Given the description of an element on the screen output the (x, y) to click on. 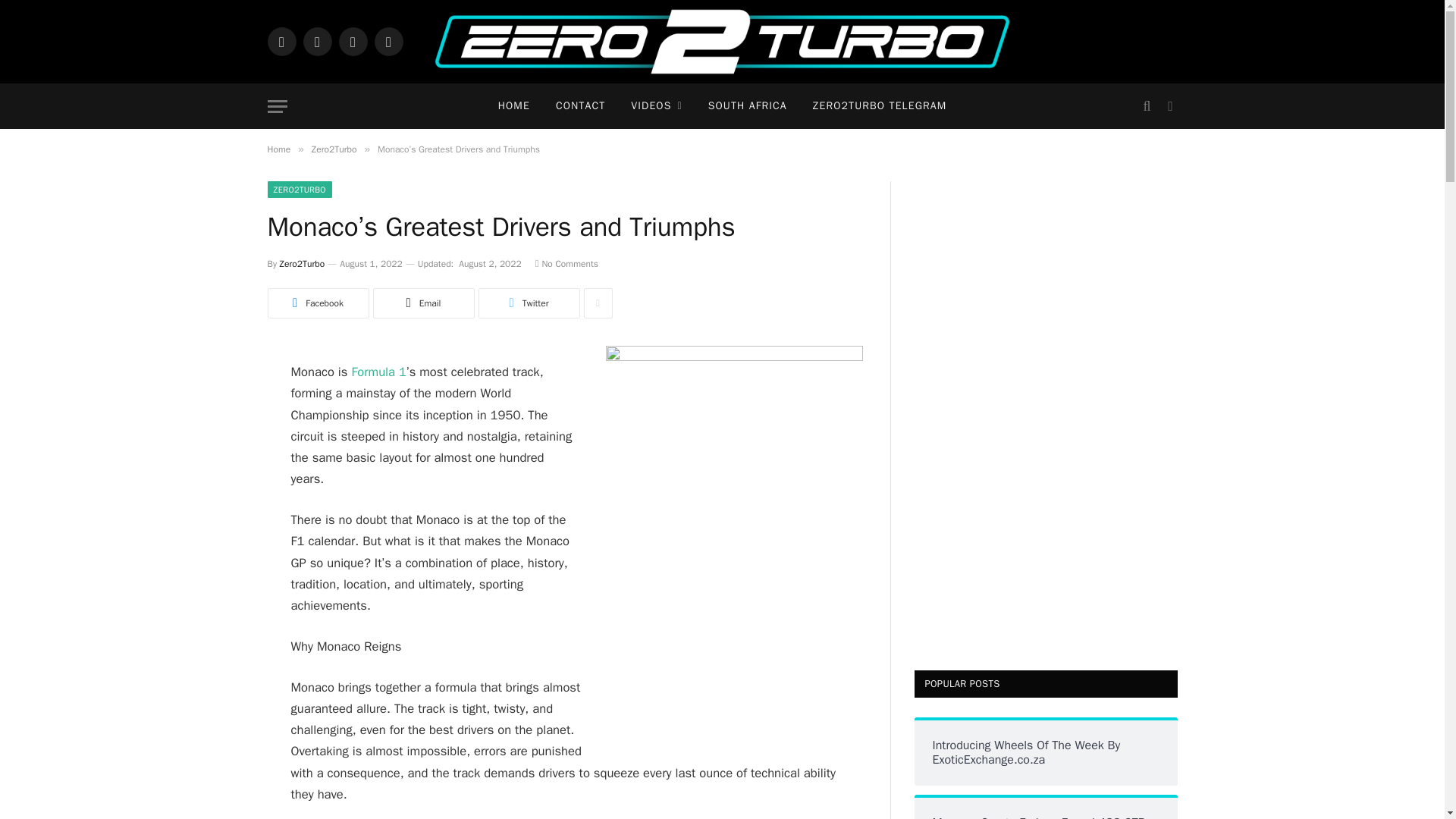
Zero2Turbo (301, 263)
ZERO2TURBO (298, 189)
Switch to Dark Design - easier on eyes. (1168, 106)
Posts by Zero2Turbo (301, 263)
Instagram (351, 41)
No Comments (566, 263)
Zero2Turbo (722, 41)
HOME (513, 105)
Share on Facebook (317, 303)
VIDEOS (655, 105)
